Given the description of an element on the screen output the (x, y) to click on. 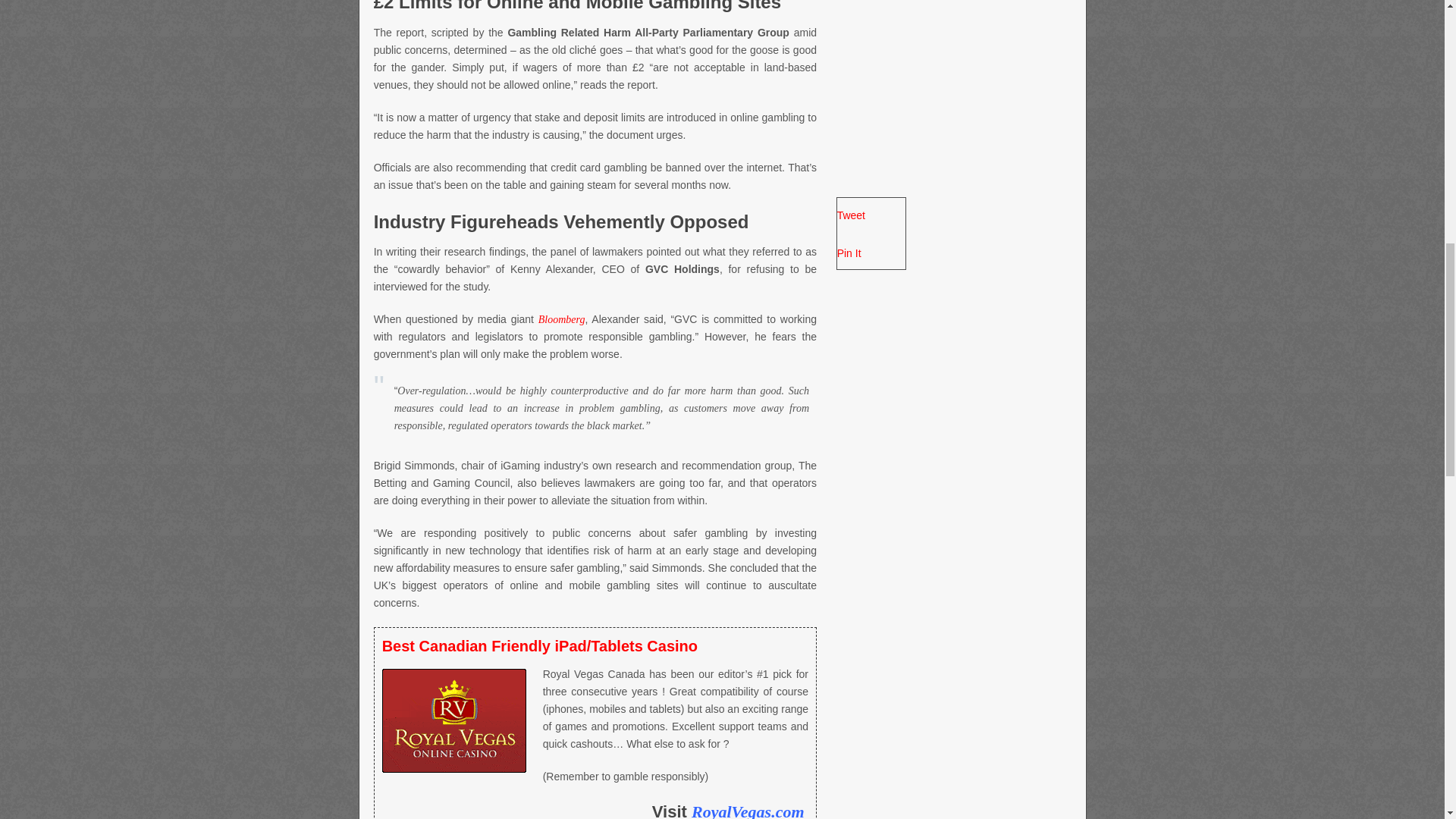
Bloomberg (561, 318)
RoyalVegas.com  (749, 810)
